Given the description of an element on the screen output the (x, y) to click on. 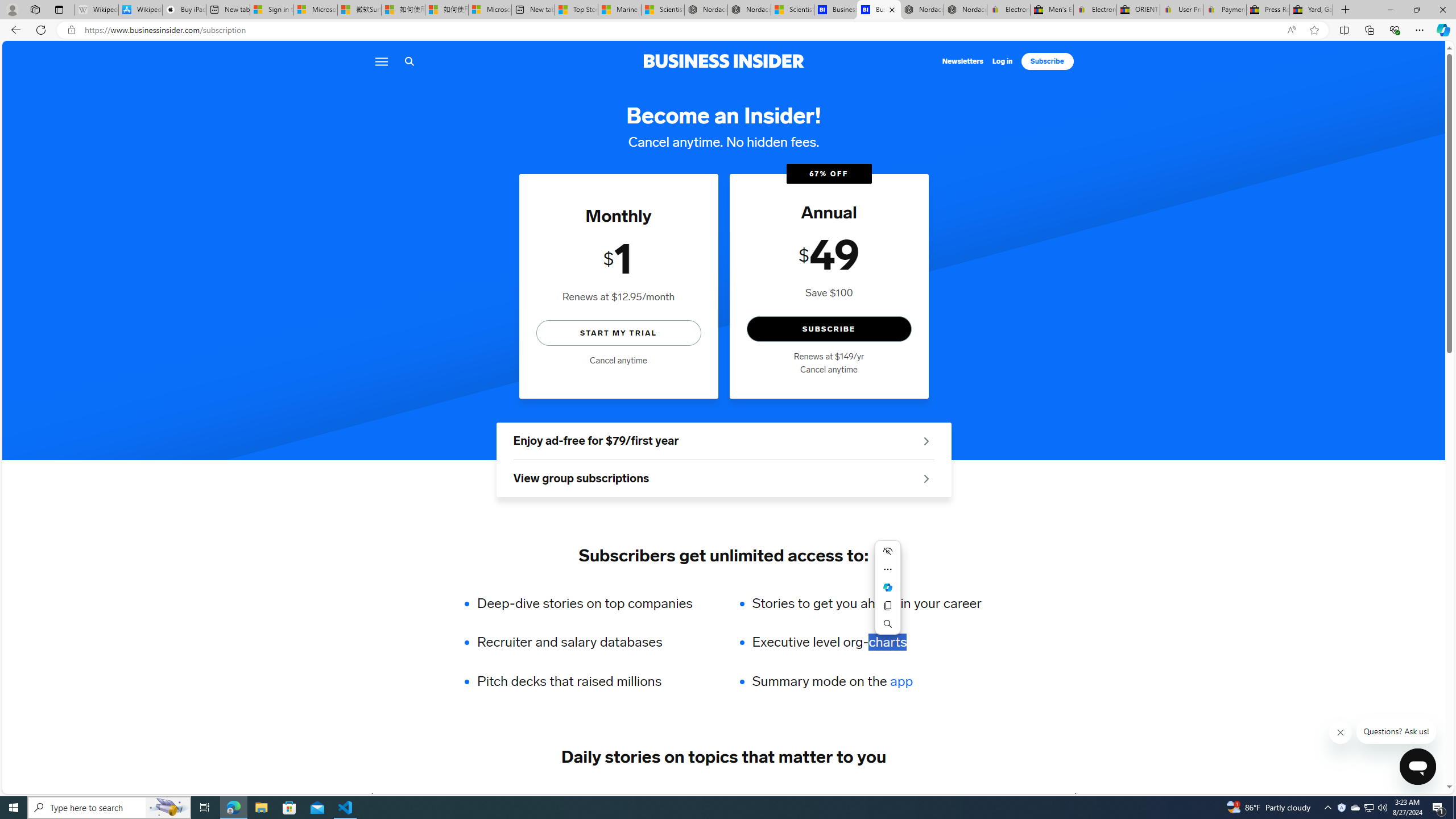
View group subscriptions (723, 478)
Enjoy ad-free for $79/first year (723, 441)
FINANCE (607, 796)
Subscribe (1047, 61)
Cancel anytime (828, 369)
Search icon (408, 61)
Sign in to your Microsoft account (271, 9)
Mini menu on text selection (888, 594)
Close message from company (1340, 732)
app (900, 681)
Nordace - Summer Adventures 2024 (922, 9)
TECH (402, 796)
